Given the description of an element on the screen output the (x, y) to click on. 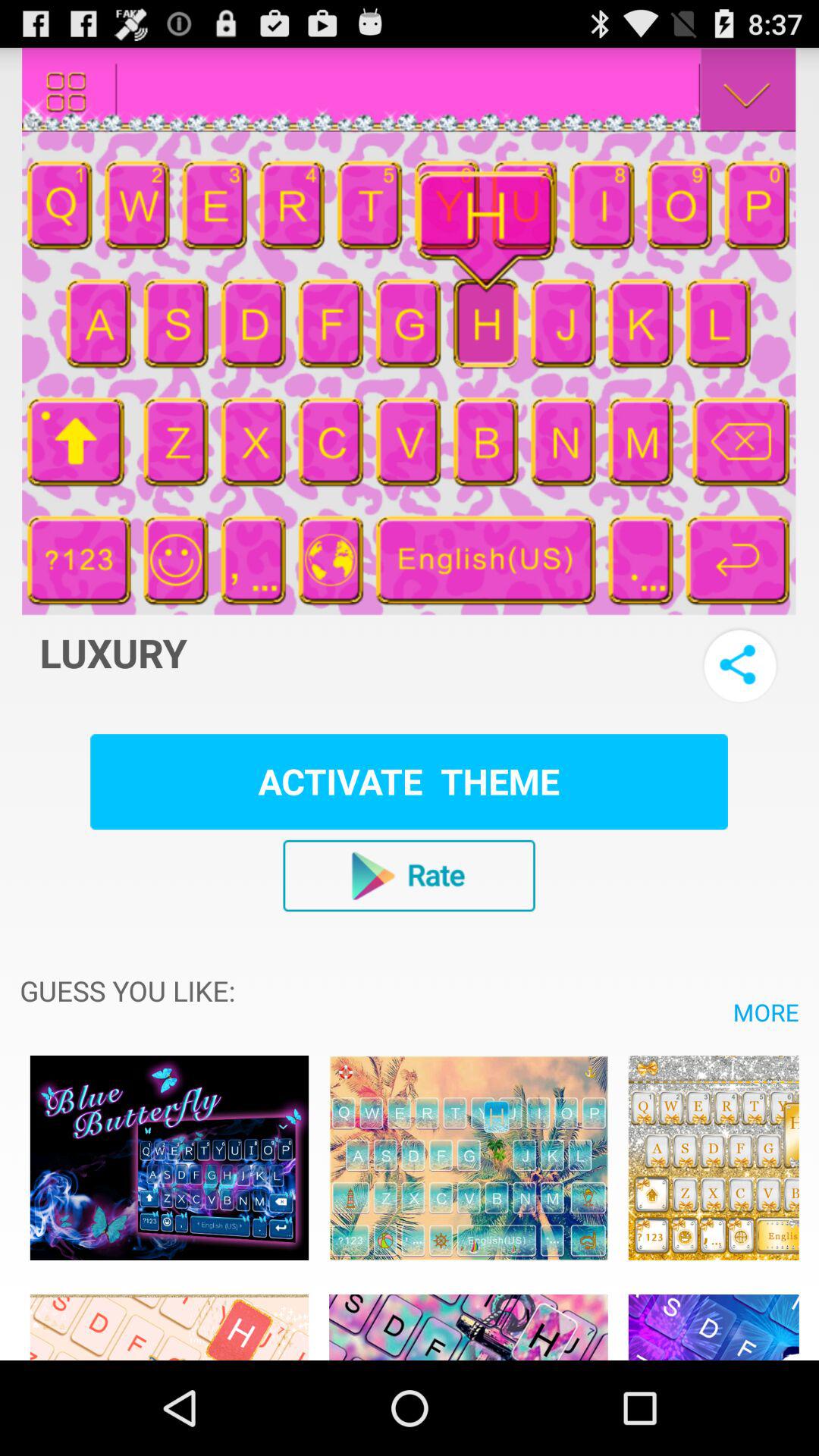
advertisements (468, 1157)
